Given the description of an element on the screen output the (x, y) to click on. 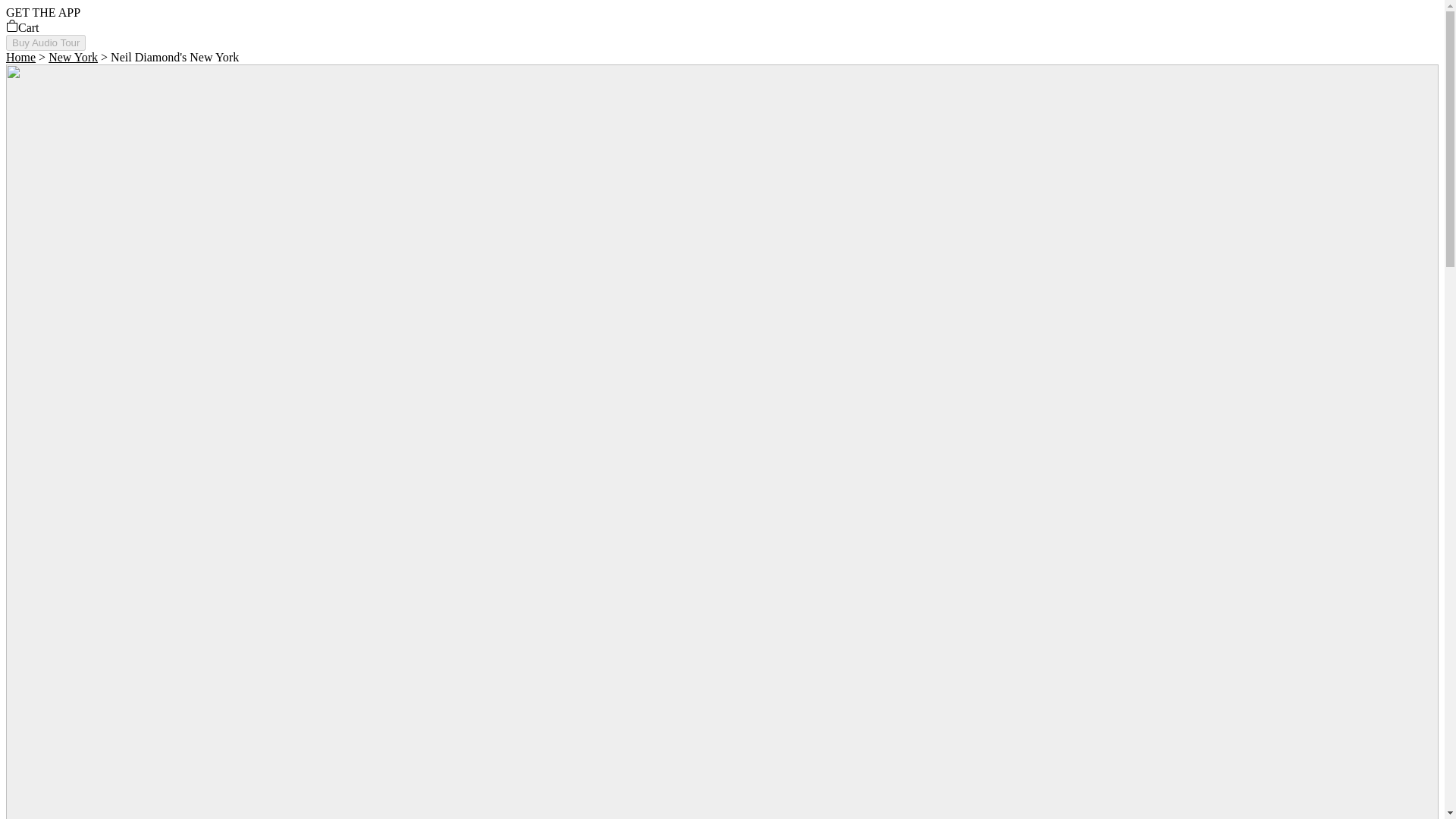
Home (19, 56)
GET THE APP (42, 11)
Buy Audio Tour (45, 42)
New York (72, 56)
